Given the description of an element on the screen output the (x, y) to click on. 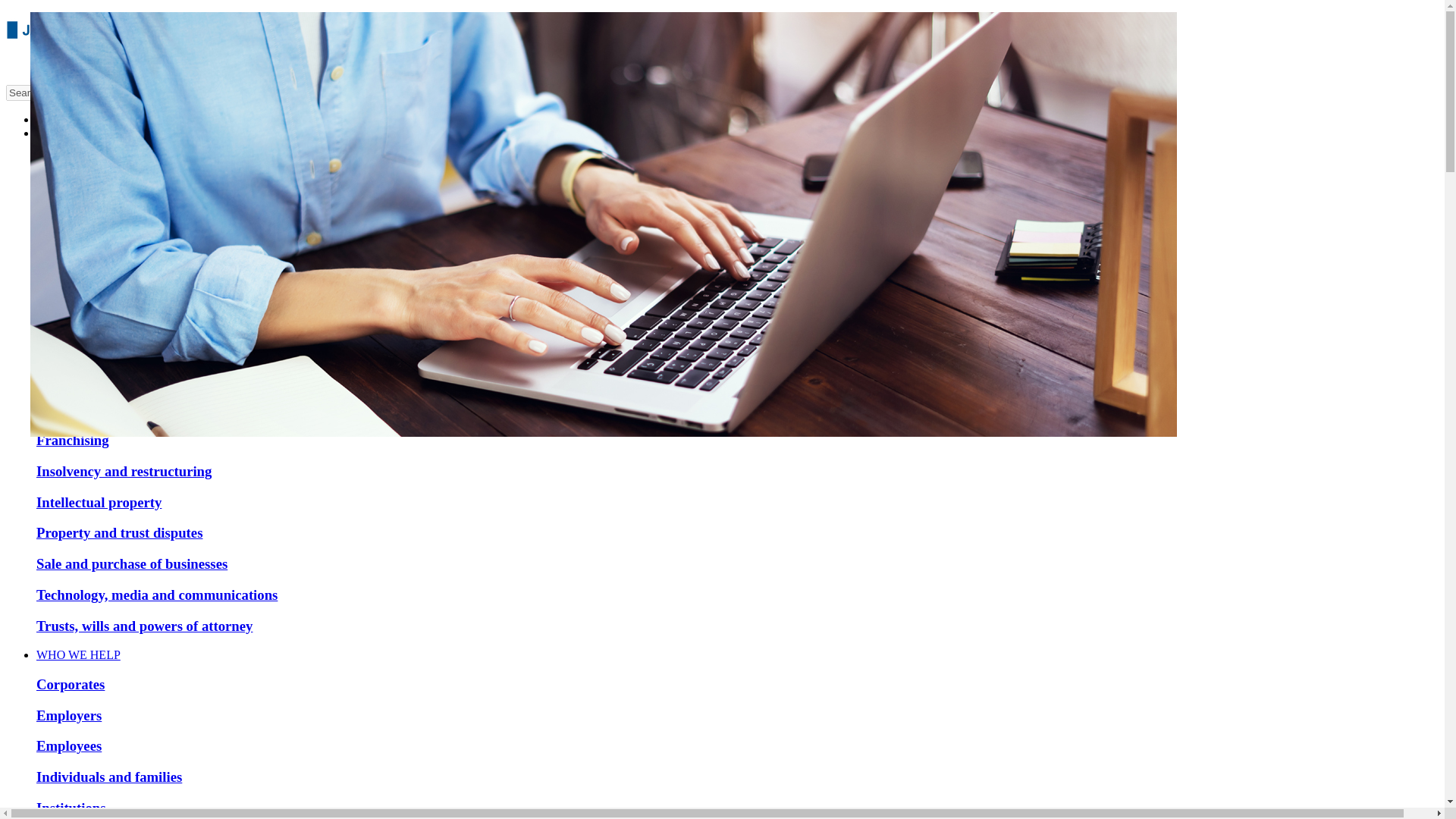
Search (147, 92)
Intellectual property (98, 502)
Franchising (72, 439)
Conveyancing and property law (133, 286)
Individuals and families (109, 776)
Insolvency and restructuring (123, 471)
Construction and building disputes (142, 223)
Property and trust disputes (119, 532)
Search (72, 92)
Institutions (70, 807)
Commercial property and leases (134, 192)
Our People (63, 119)
Search (72, 92)
Corporates (70, 684)
Employees (68, 745)
